Given the description of an element on the screen output the (x, y) to click on. 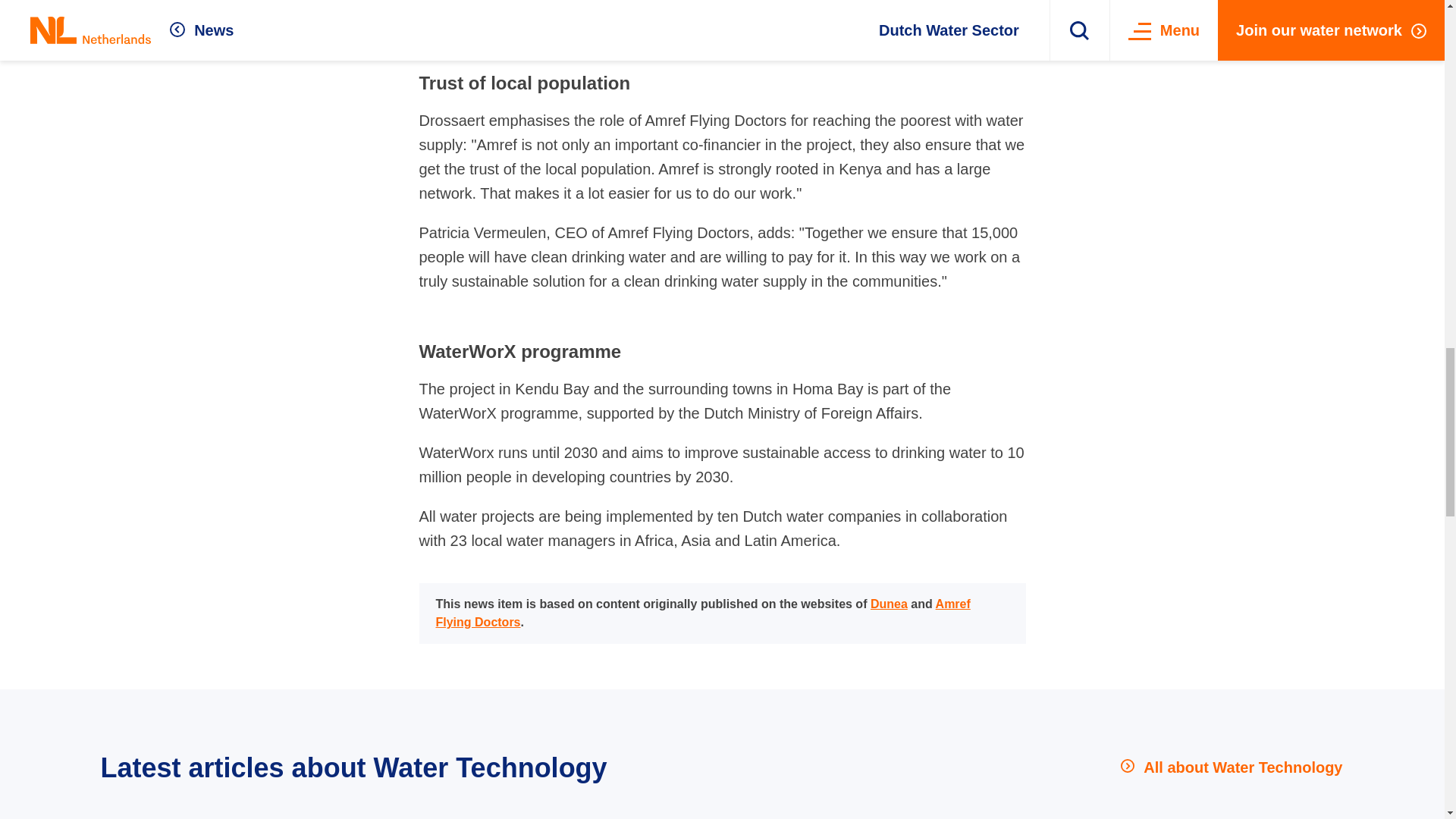
All about Water Technology (1232, 766)
Dunea (888, 603)
Amref Flying Doctors (702, 612)
